Given the description of an element on the screen output the (x, y) to click on. 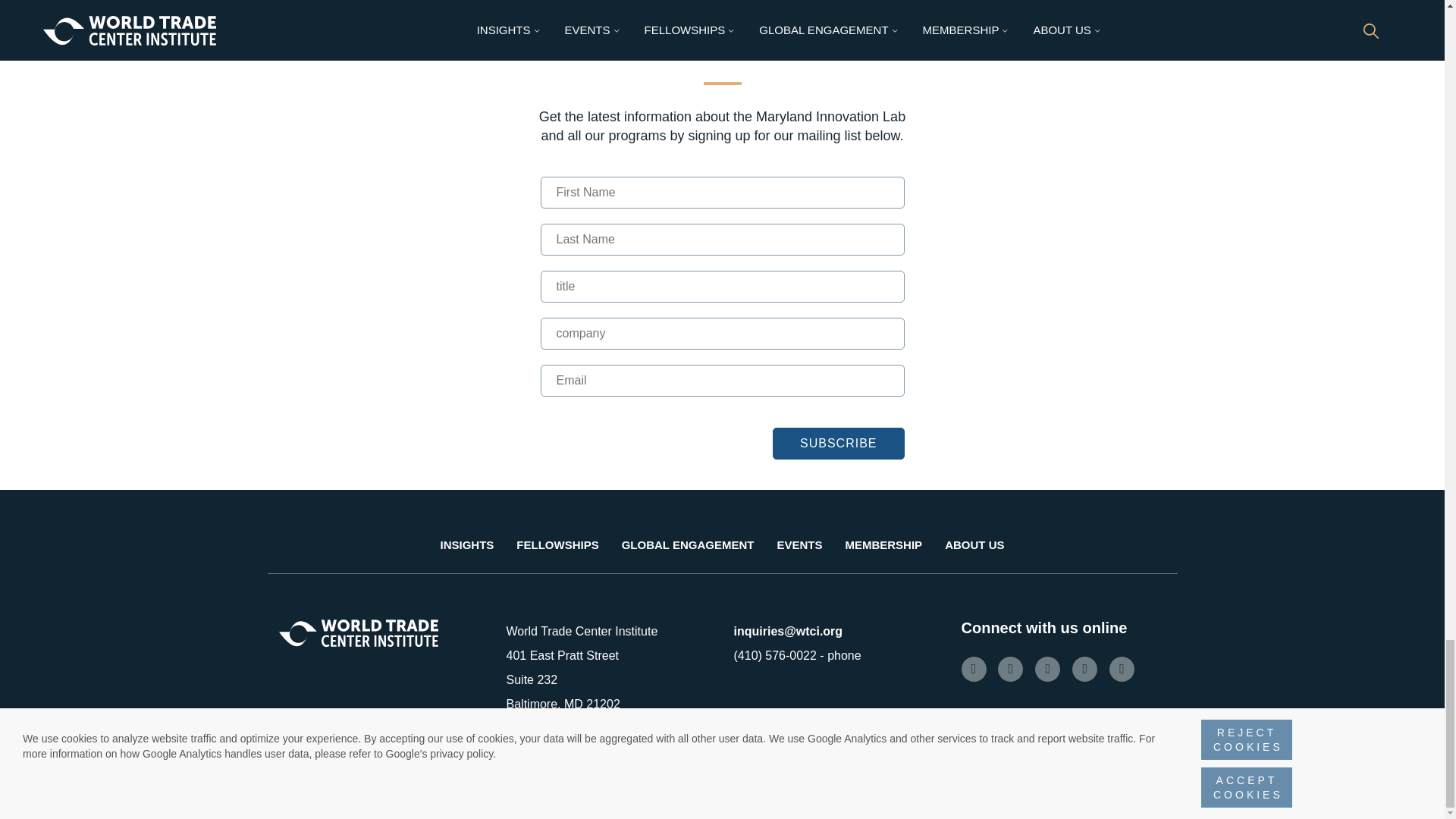
Subscribe (838, 443)
